Given the description of an element on the screen output the (x, y) to click on. 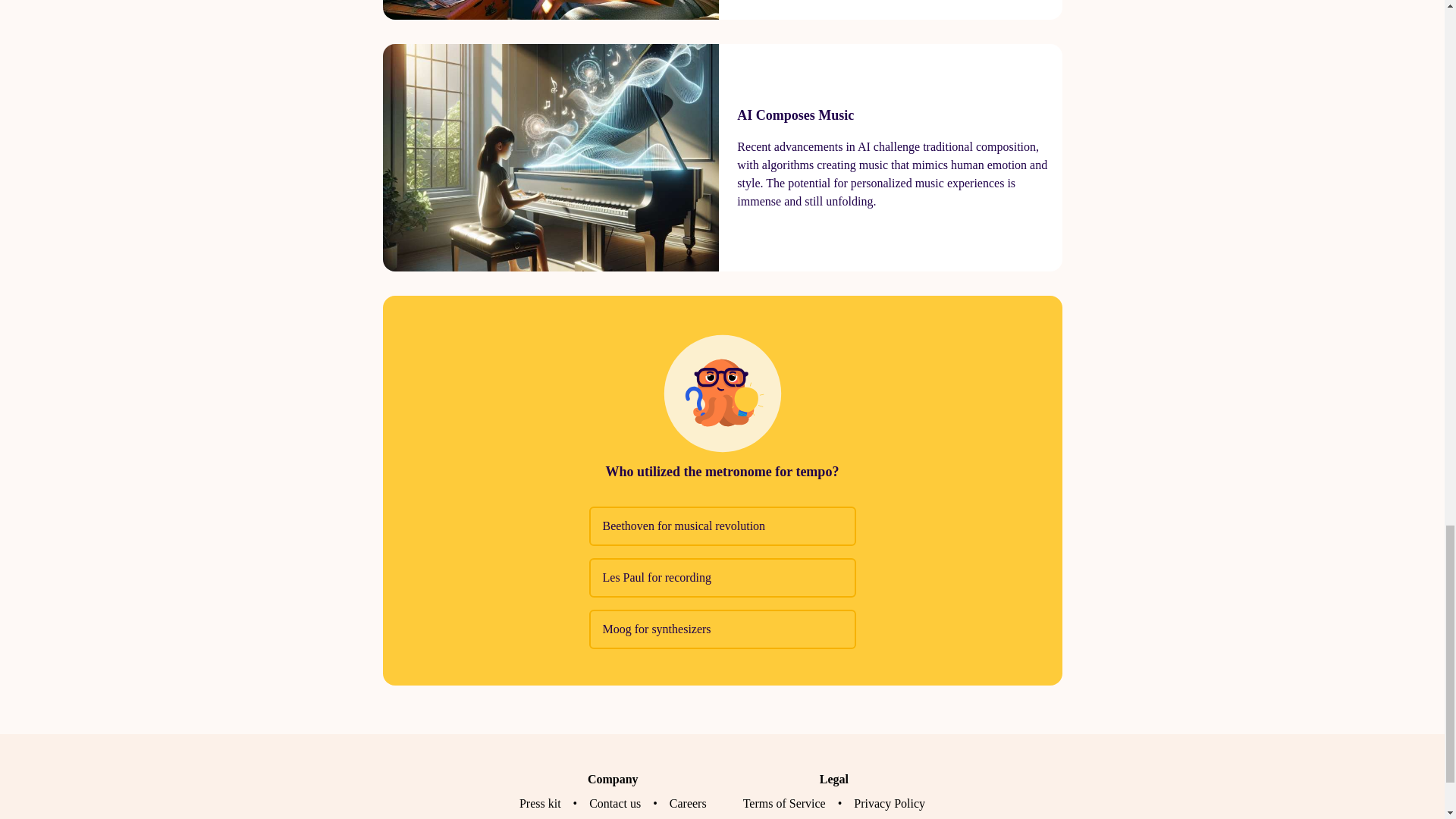
Privacy Policy (888, 802)
Contact us (614, 802)
Careers (687, 802)
Press kit (539, 802)
Terms of Service (783, 802)
